Given the description of an element on the screen output the (x, y) to click on. 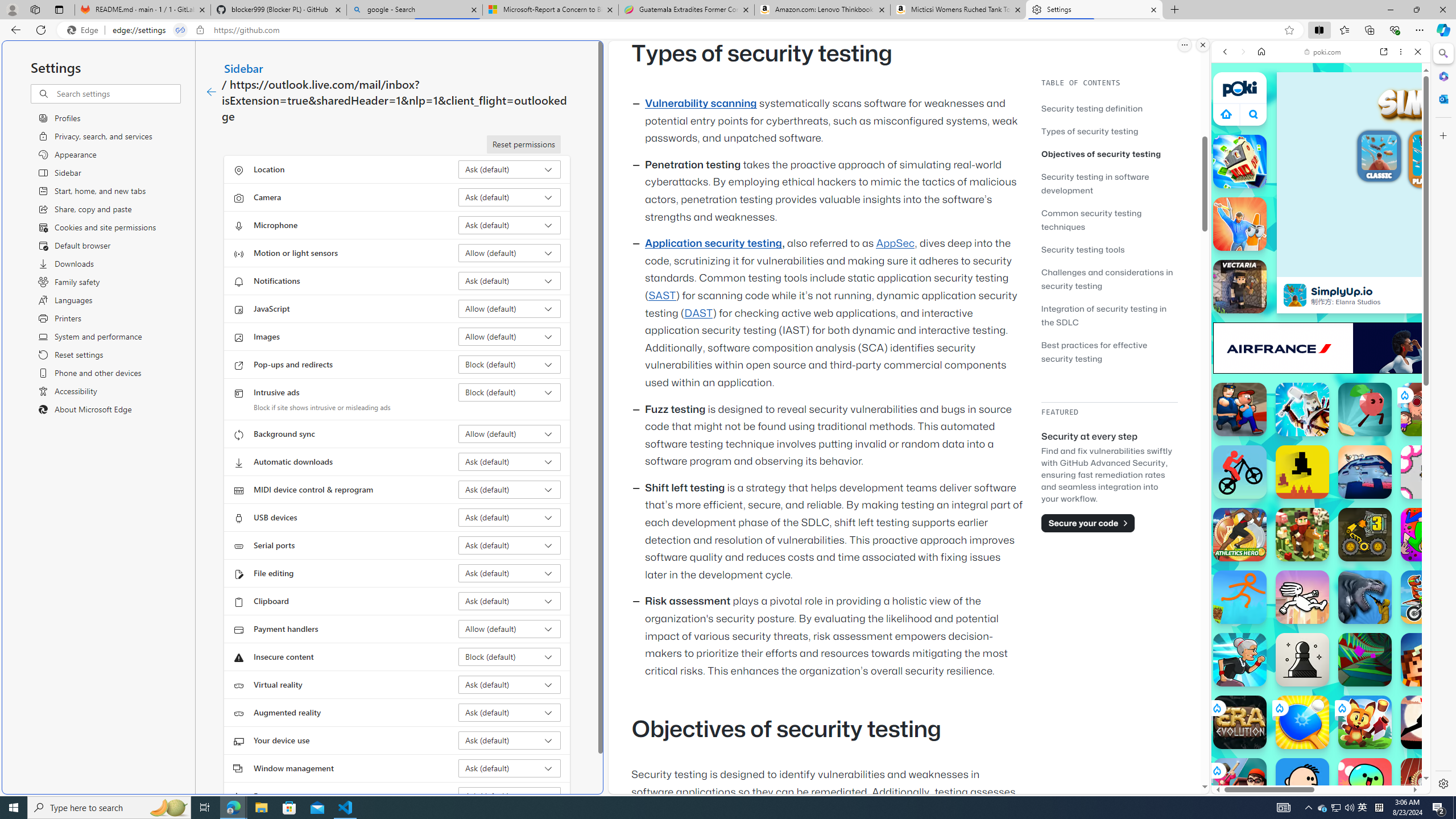
Moto X3M Moto X3M (1427, 597)
Augmented reality Ask (default) (509, 712)
Lurkers.io (1427, 659)
Secure your code (1088, 522)
Sidebar (243, 67)
SimplyUp.io (1295, 295)
Intrusive ads Block (default) (509, 392)
Hills of Steel (1264, 580)
SUBWAY SURFERS - Play Online for Free! | Poki (1315, 765)
